Given the description of an element on the screen output the (x, y) to click on. 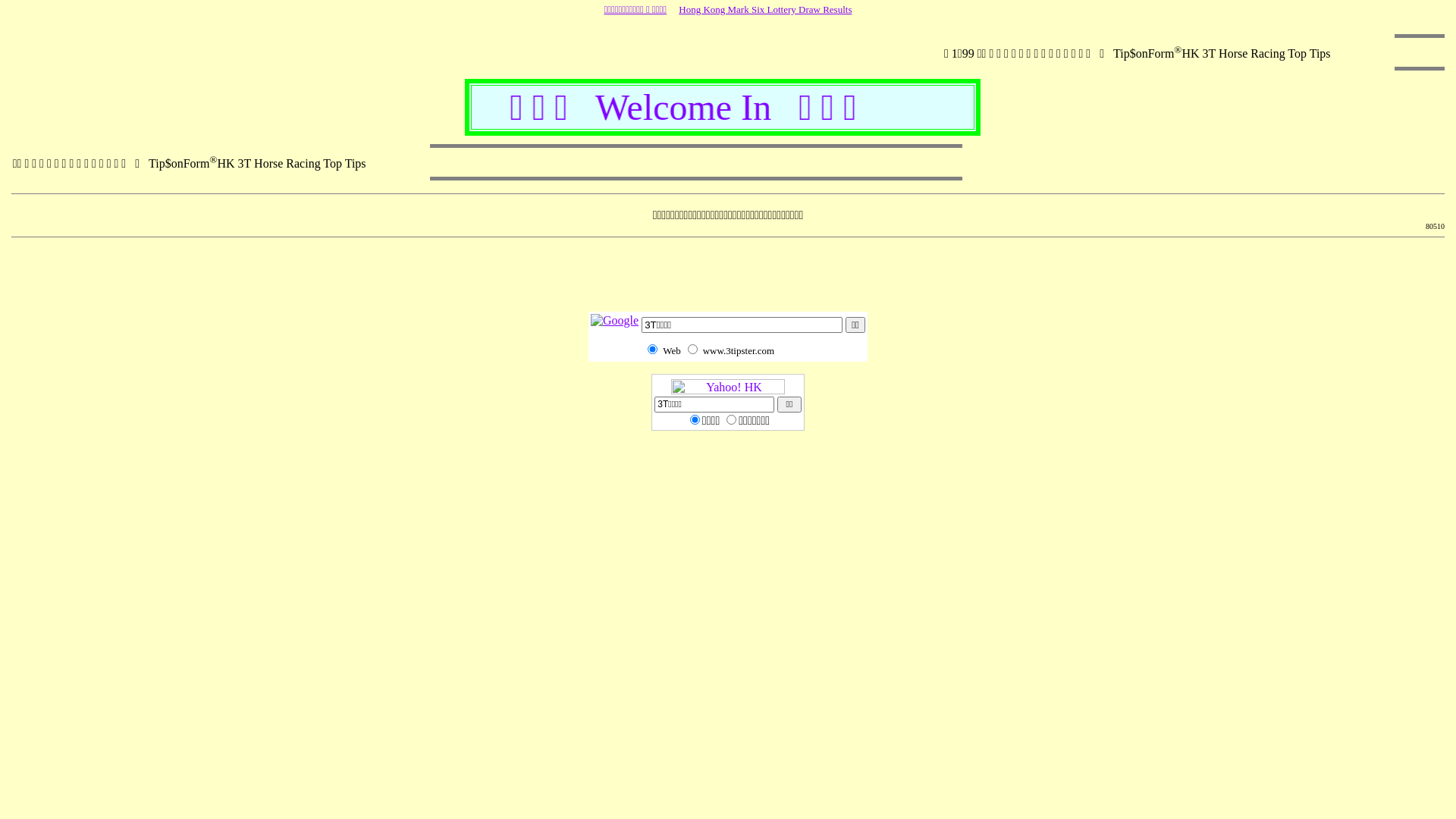
Hong Kong Mark Six Lottery Draw Results Element type: text (764, 9)
Advertisement Element type: hover (727, 277)
